Given the description of an element on the screen output the (x, y) to click on. 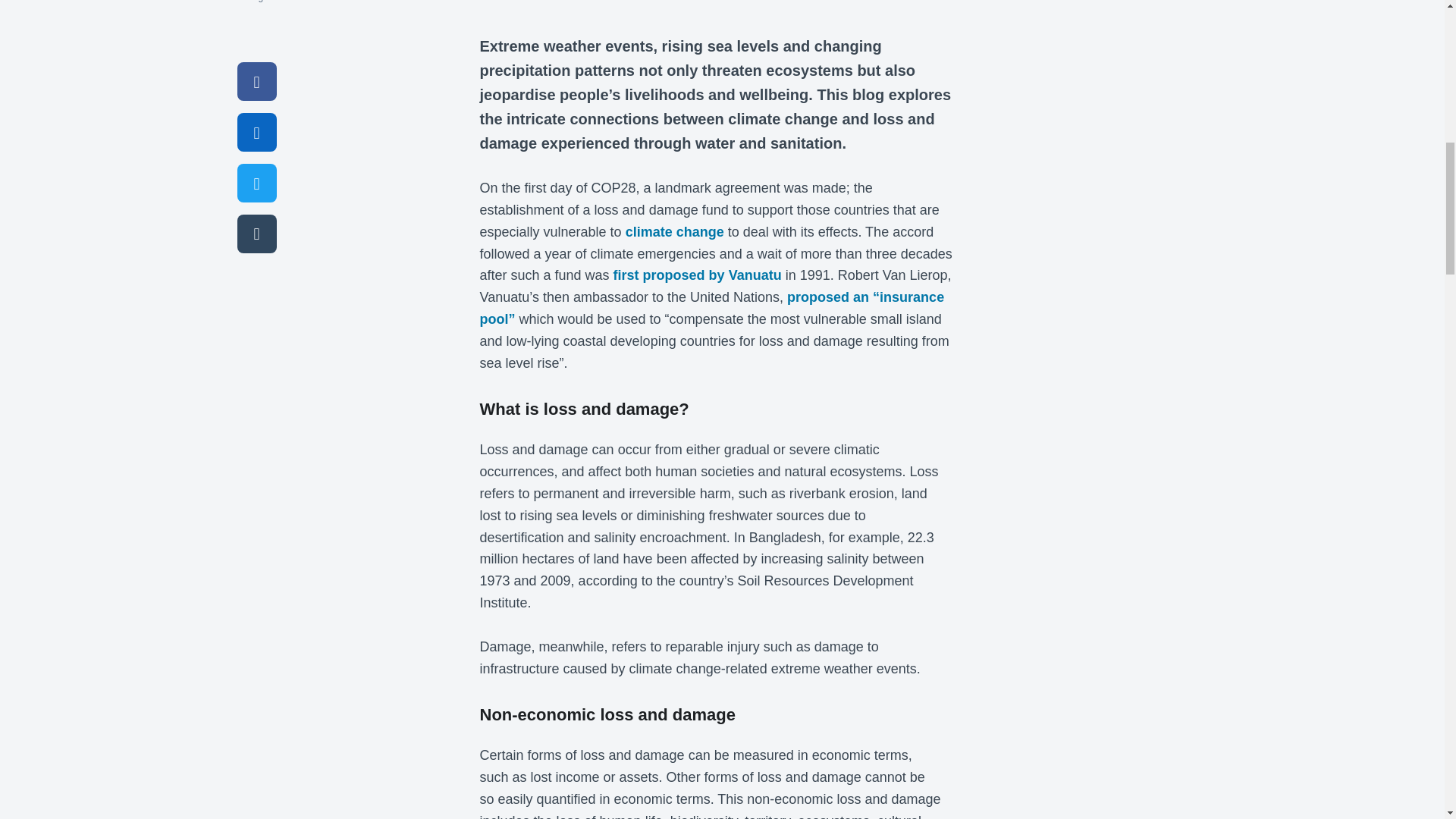
climate change (674, 231)
first proposed by Vanuatu (696, 274)
